Given the description of an element on the screen output the (x, y) to click on. 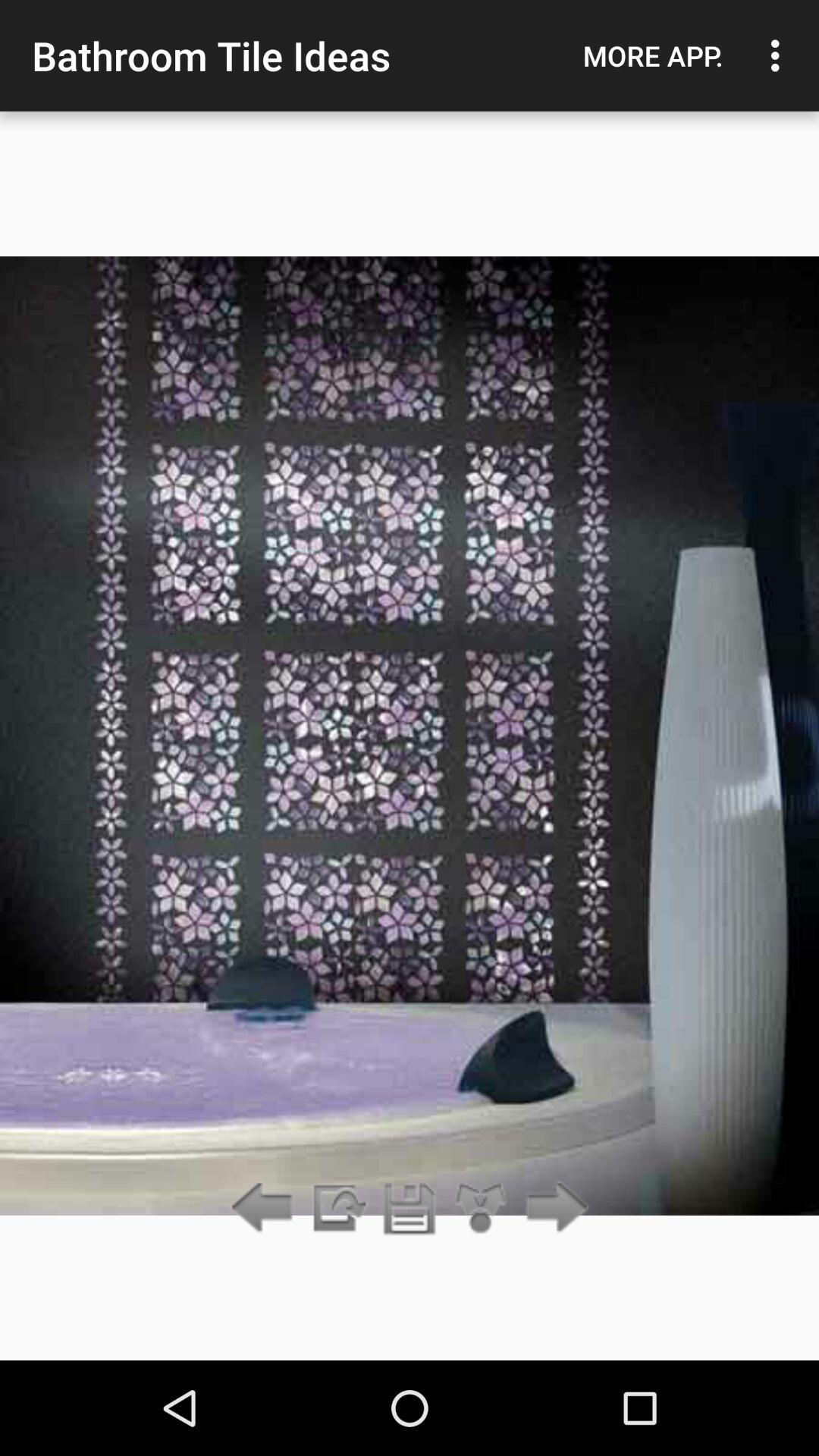
tap icon at the bottom right corner (552, 1209)
